Given the description of an element on the screen output the (x, y) to click on. 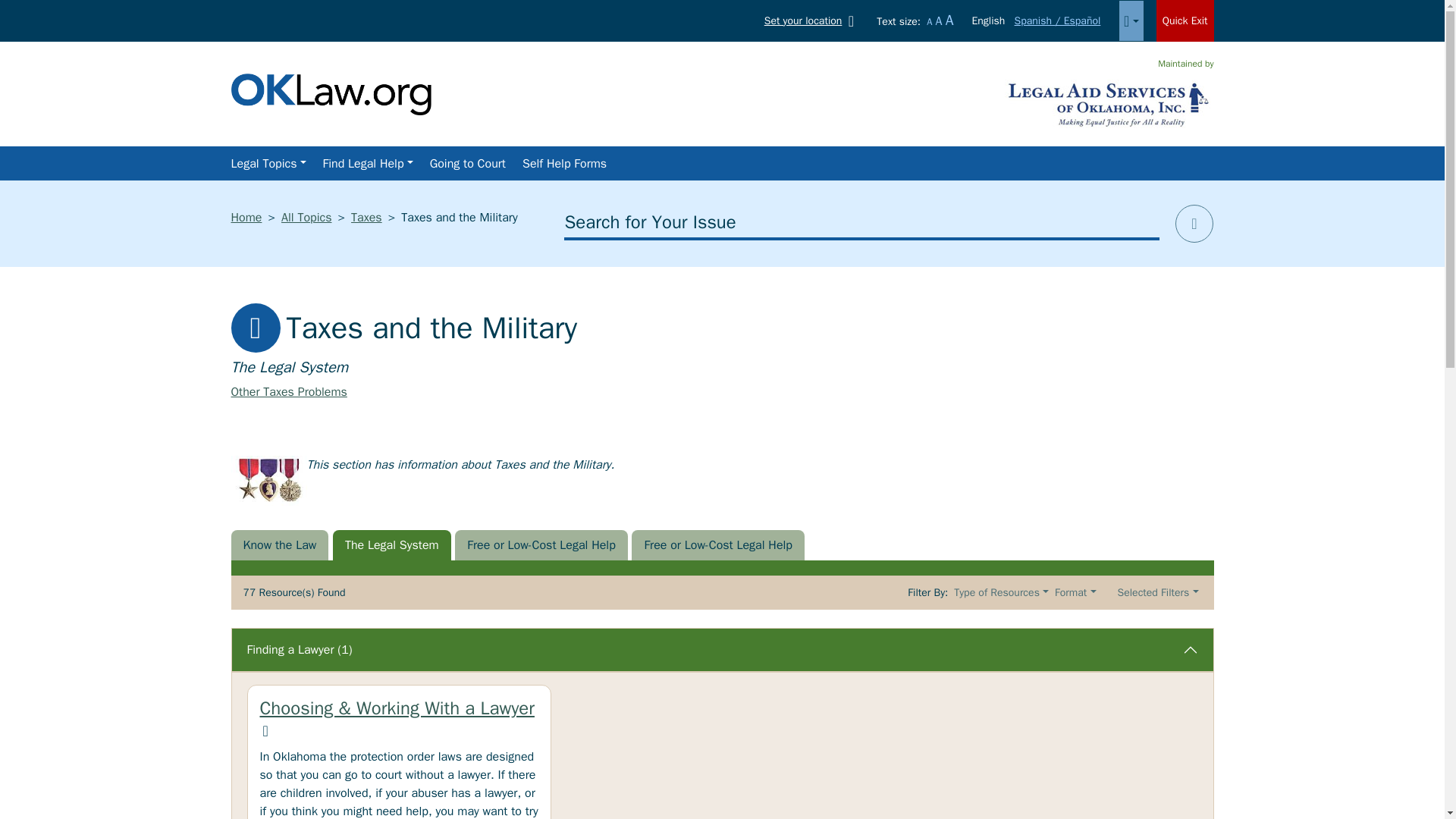
Quick Exit (1184, 20)
Legal Topics (267, 163)
LegalAidOK.org (330, 92)
Set your location (812, 20)
Set your location (812, 20)
Legal Aid Services of Oklahoma (1108, 102)
